Given the description of an element on the screen output the (x, y) to click on. 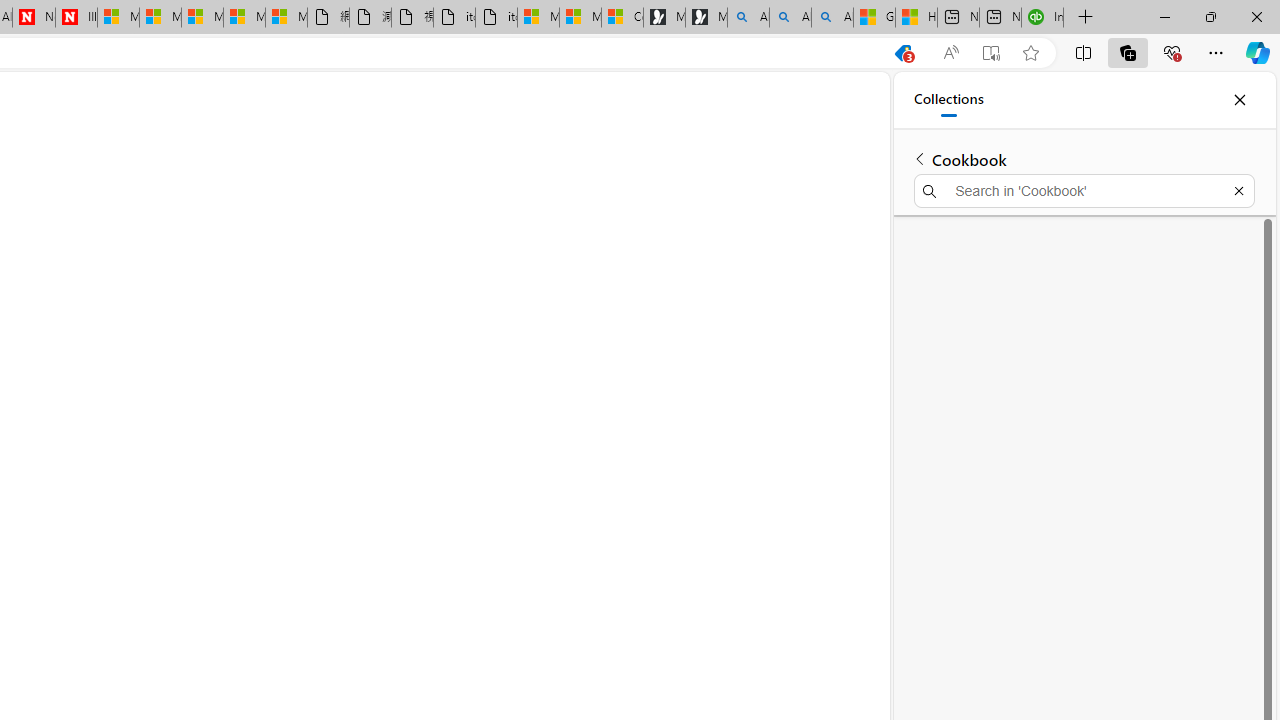
itconcepthk.com/projector_solutions.mp4 (496, 17)
Full Stack Developer Roadmap [2024 Updated] (685, 395)
Back to list of collections (920, 158)
AutomationID: cbb (834, 452)
Intuit QuickBooks Online - Quickbooks (1042, 17)
What is OpenAI SearchGPT? How it works and How to Get it? (679, 350)
Search in 'Cookbook' (1084, 190)
Newsweek - News, Analysis, Politics, Business, Technology (33, 17)
